Given the description of an element on the screen output the (x, y) to click on. 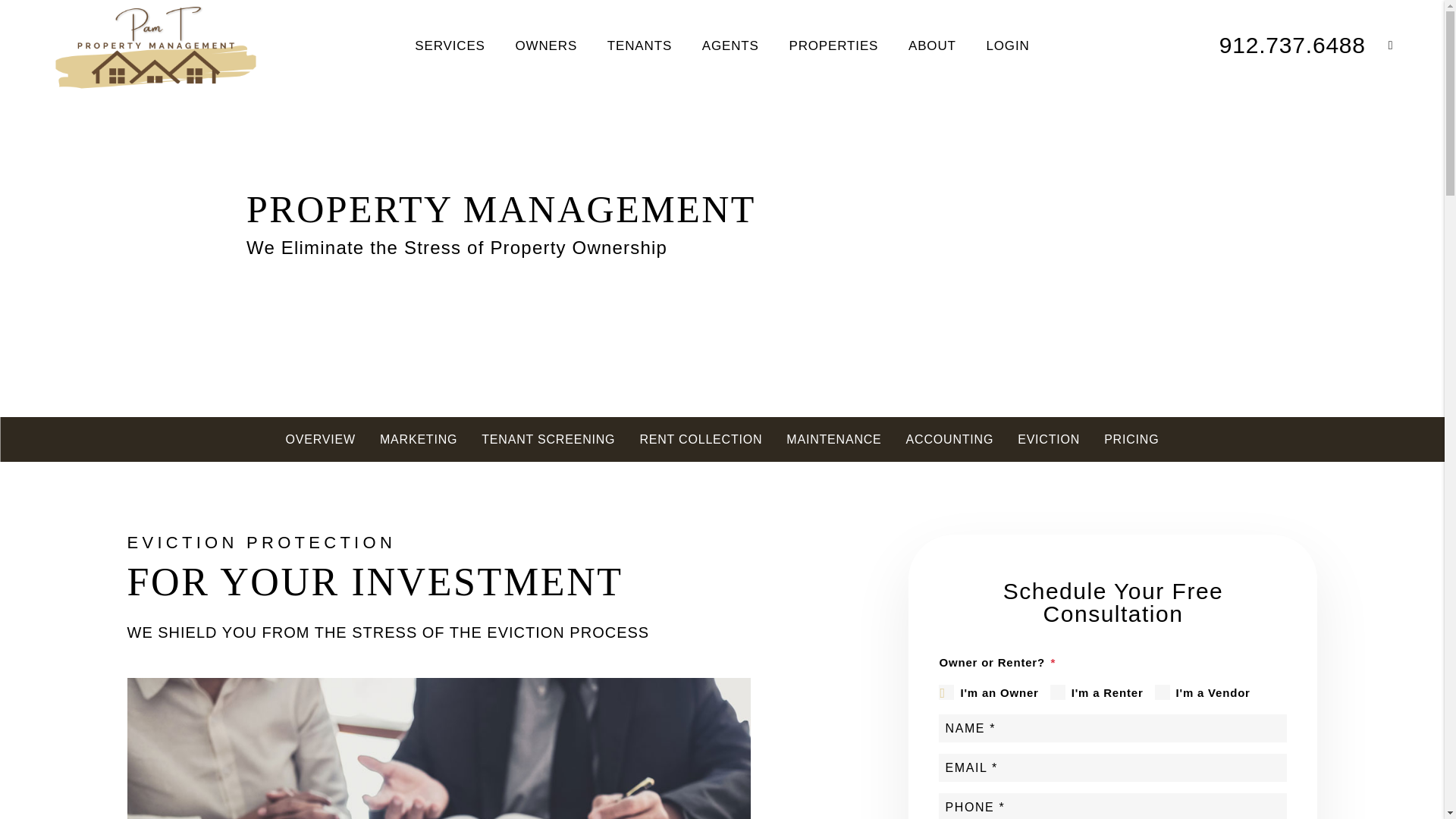
PROPERTIES (833, 44)
AGENTS (729, 44)
OWNERS (546, 44)
SERVICES (449, 44)
TENANTS (639, 44)
912.737.6488 (1292, 44)
ABOUT (932, 44)
email (1379, 45)
